Given the description of an element on the screen output the (x, y) to click on. 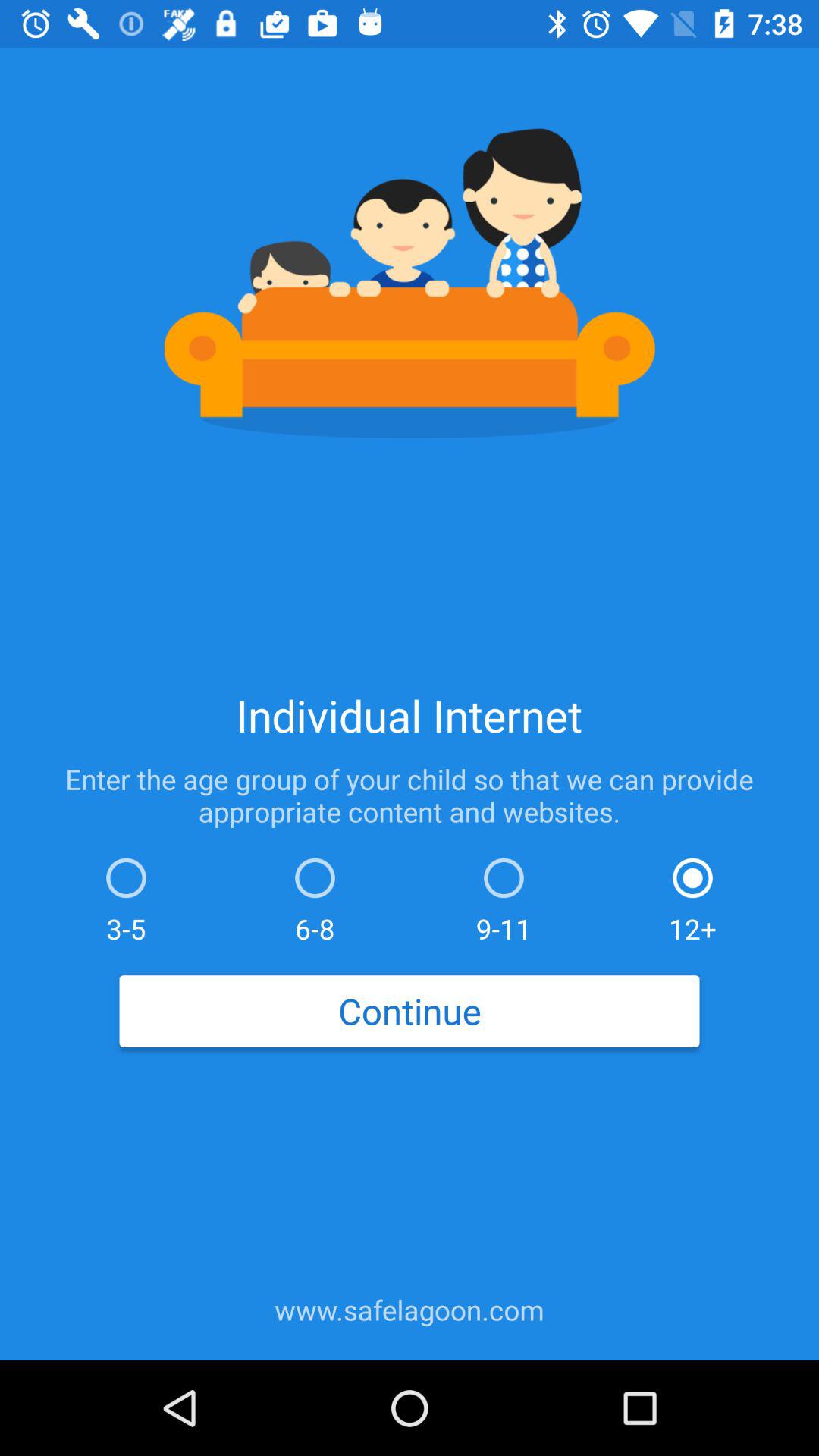
press the icon below the enter the age icon (125, 896)
